Given the description of an element on the screen output the (x, y) to click on. 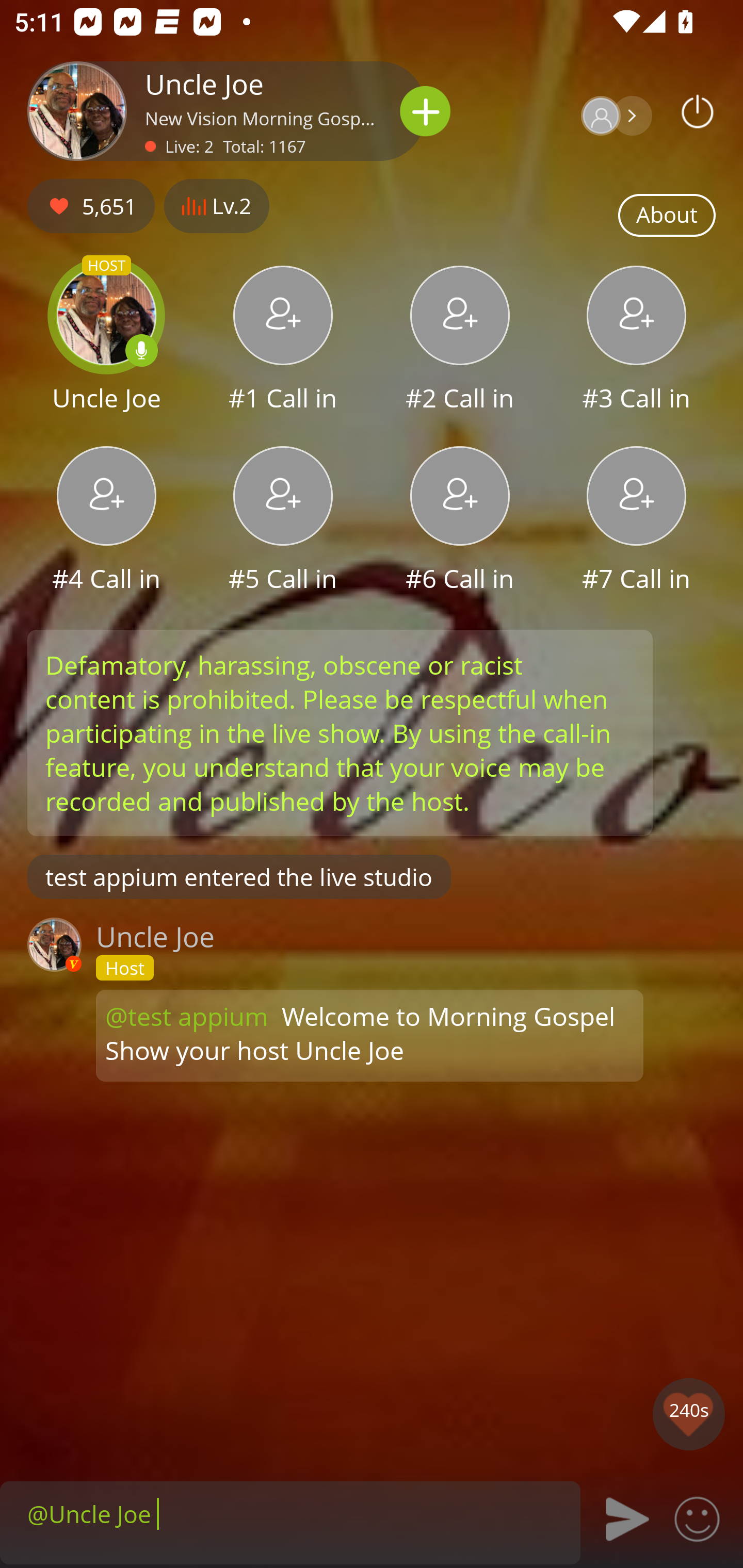
Podbean (697, 111)
About (666, 215)
HOST Uncle Joe (105, 340)
#1 Call in (282, 340)
#2 Call in (459, 340)
#3 Call in (636, 340)
#4 Call in (105, 521)
#5 Call in (282, 521)
#6 Call in (459, 521)
#7 Call in (636, 521)
@Uncle Joe  (289, 1513)
